Given the description of an element on the screen output the (x, y) to click on. 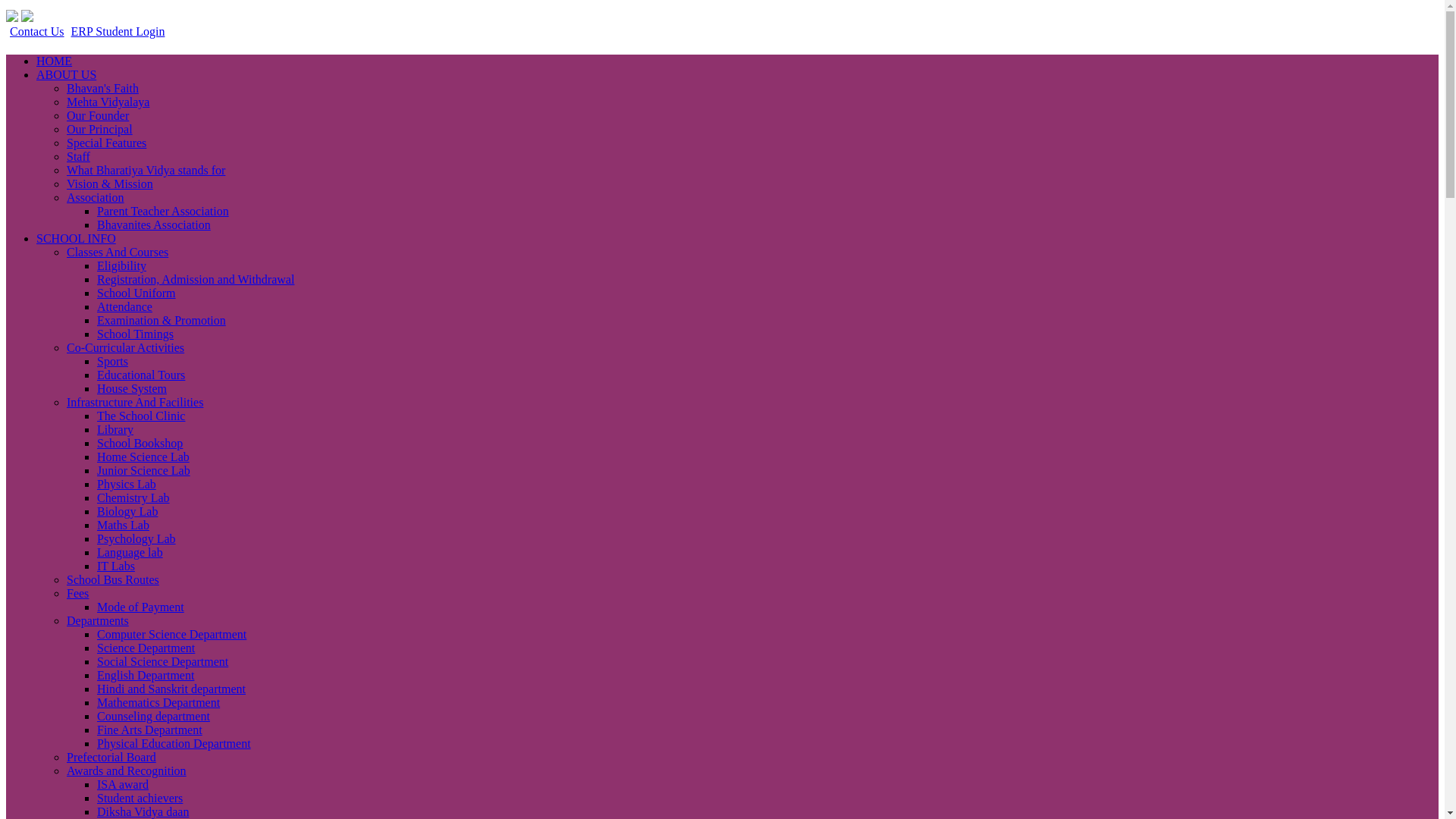
Bhavanites Association (154, 224)
Classes And Courses (117, 251)
ERP Student Login (115, 31)
Mehta Vidyalaya (107, 101)
Our Principal (99, 128)
What Bharatiya Vidya stands for (145, 169)
Home Science Lab (143, 456)
Language lab (130, 552)
Educational Tours (140, 374)
Infrastructure And Facilities (134, 401)
